Given the description of an element on the screen output the (x, y) to click on. 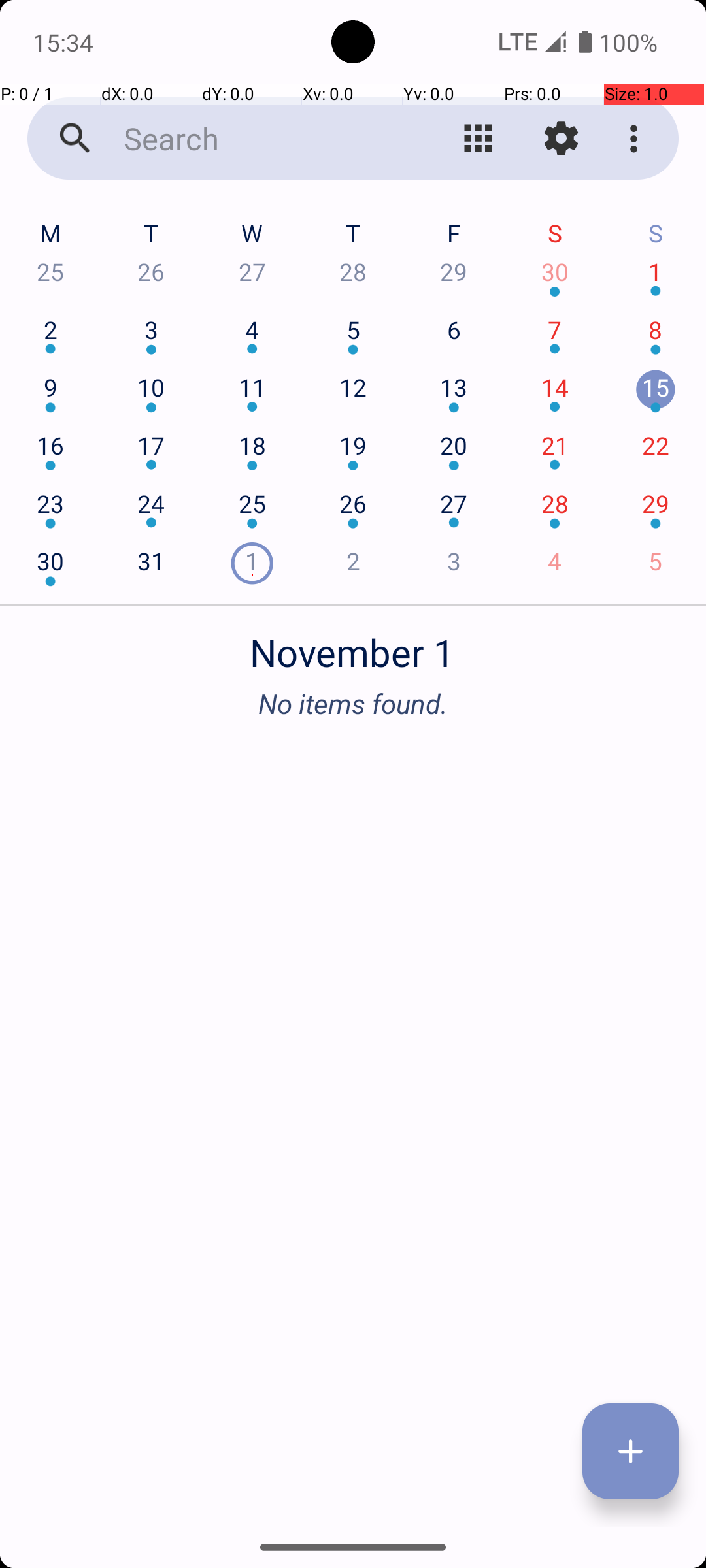
November 1 Element type: android.widget.TextView (352, 644)
